Given the description of an element on the screen output the (x, y) to click on. 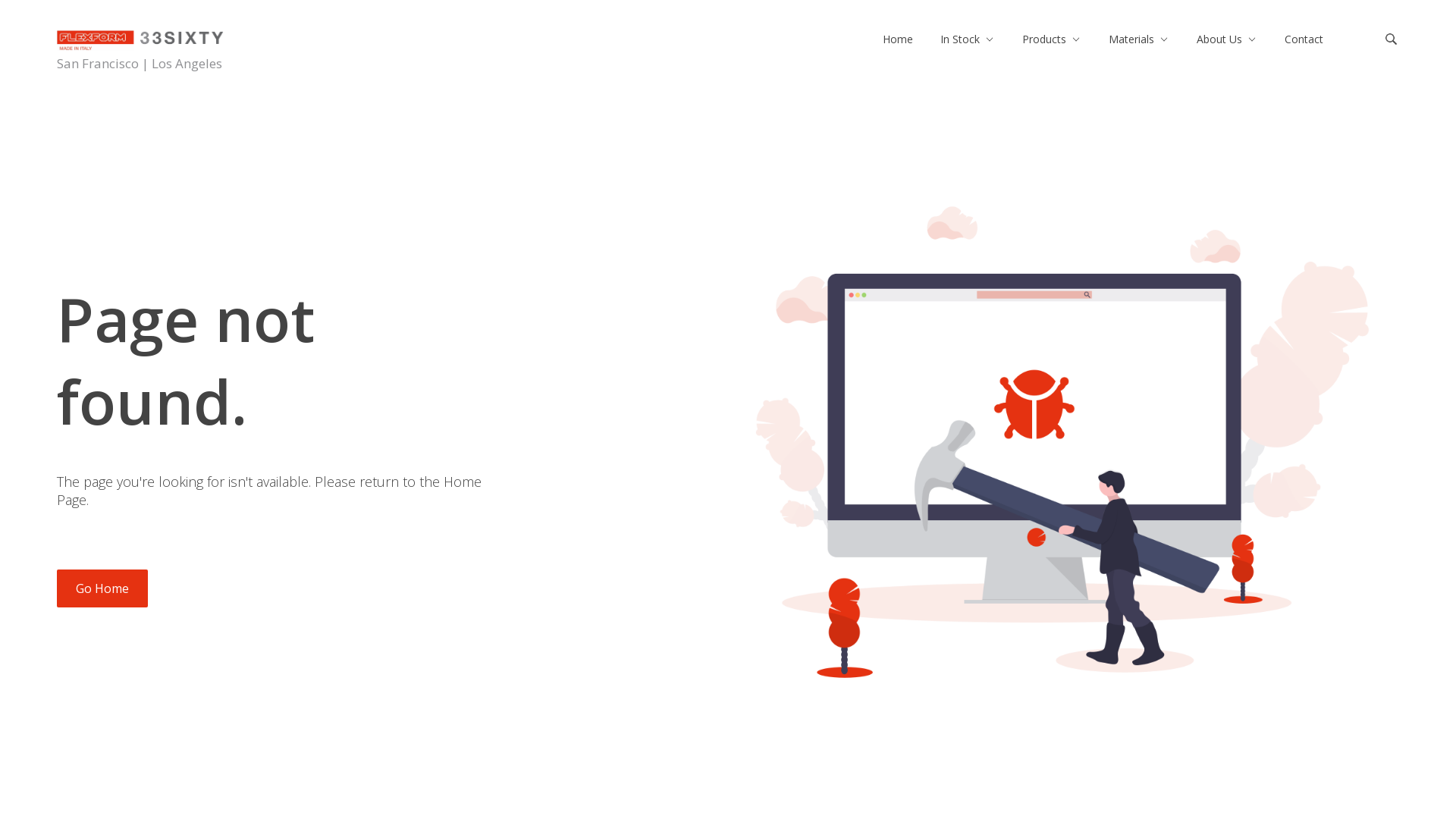
Products Element type: text (1044, 39)
Materials Element type: text (1131, 39)
In Stock Element type: text (959, 39)
San Francisco Element type: text (98, 63)
About Us Element type: text (1219, 39)
Contact Element type: text (1303, 39)
Home Element type: text (897, 39)
Los Angeles Element type: text (185, 63)
Go Home Element type: text (101, 588)
